Given the description of an element on the screen output the (x, y) to click on. 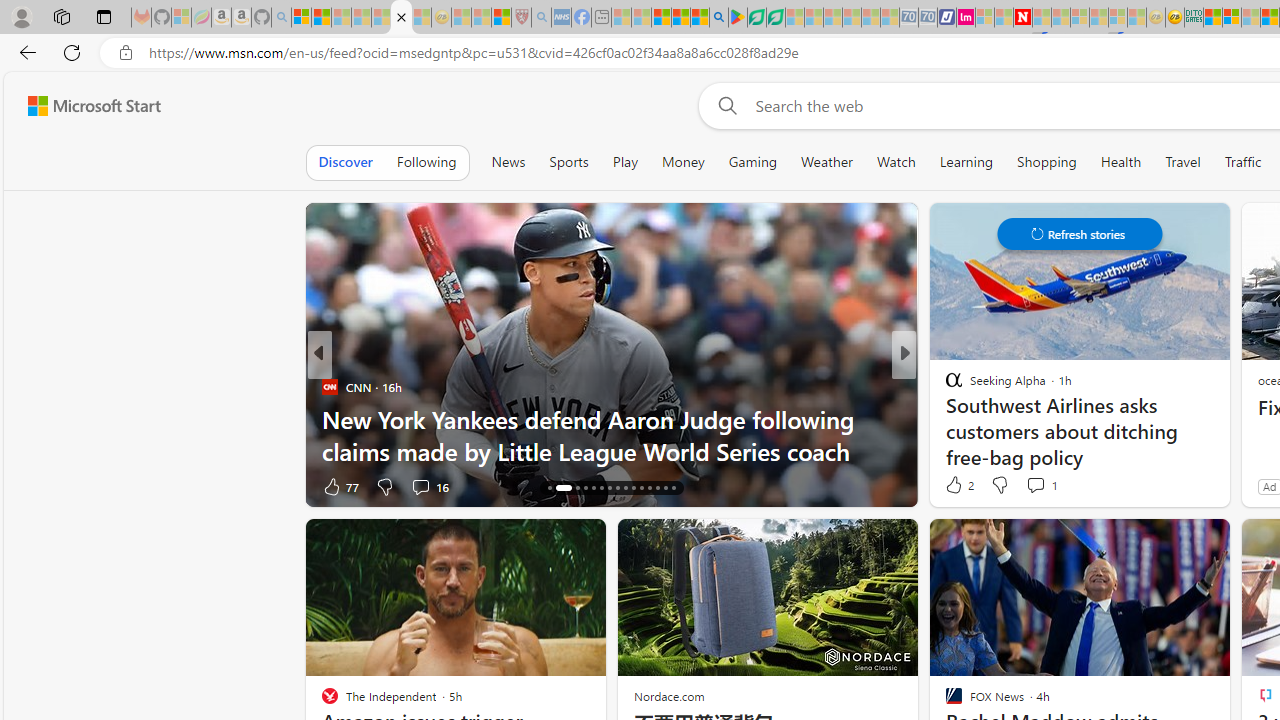
Business Insider (944, 386)
Hide this story (1169, 542)
Class: control (1079, 233)
